Given the description of an element on the screen output the (x, y) to click on. 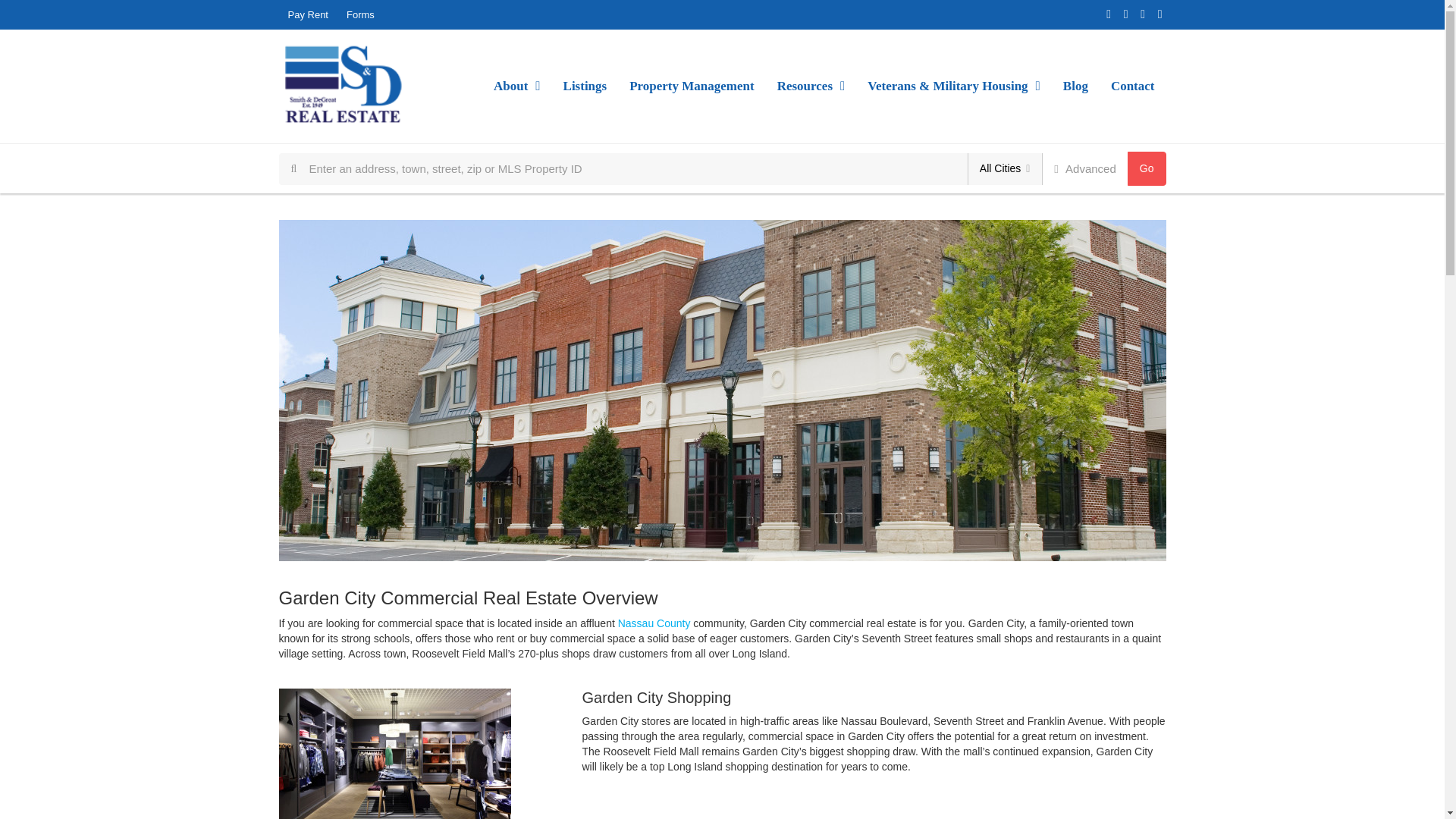
All Cities (1005, 169)
Forms (360, 14)
Pay Rent (308, 14)
Property Management (691, 85)
Resources (811, 85)
